Given the description of an element on the screen output the (x, y) to click on. 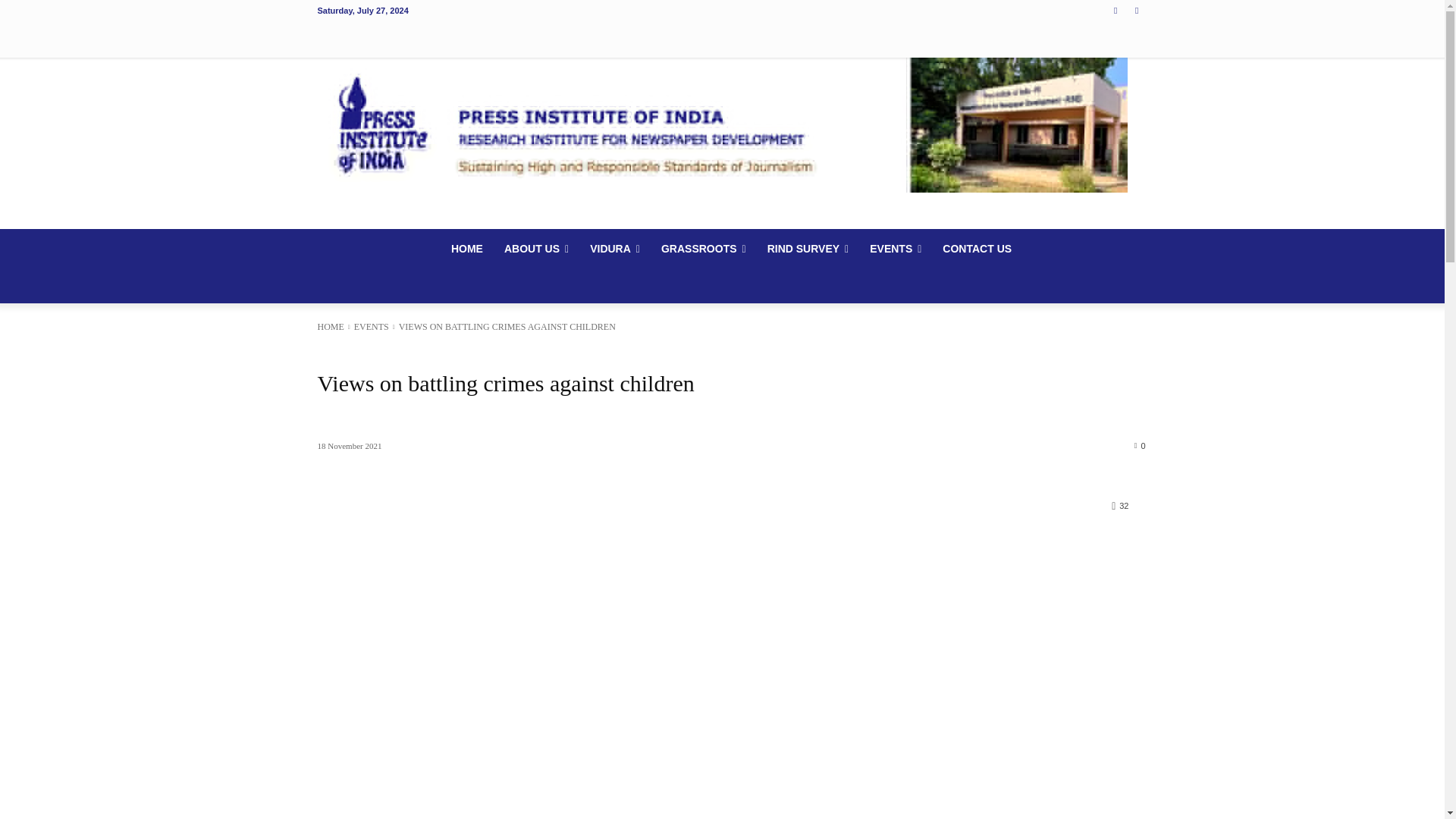
VIDURA (614, 248)
HOME (467, 248)
Youtube (1136, 9)
Facebook (1115, 9)
GRASSROOTS (703, 248)
ABOUT US (536, 248)
